Given the description of an element on the screen output the (x, y) to click on. 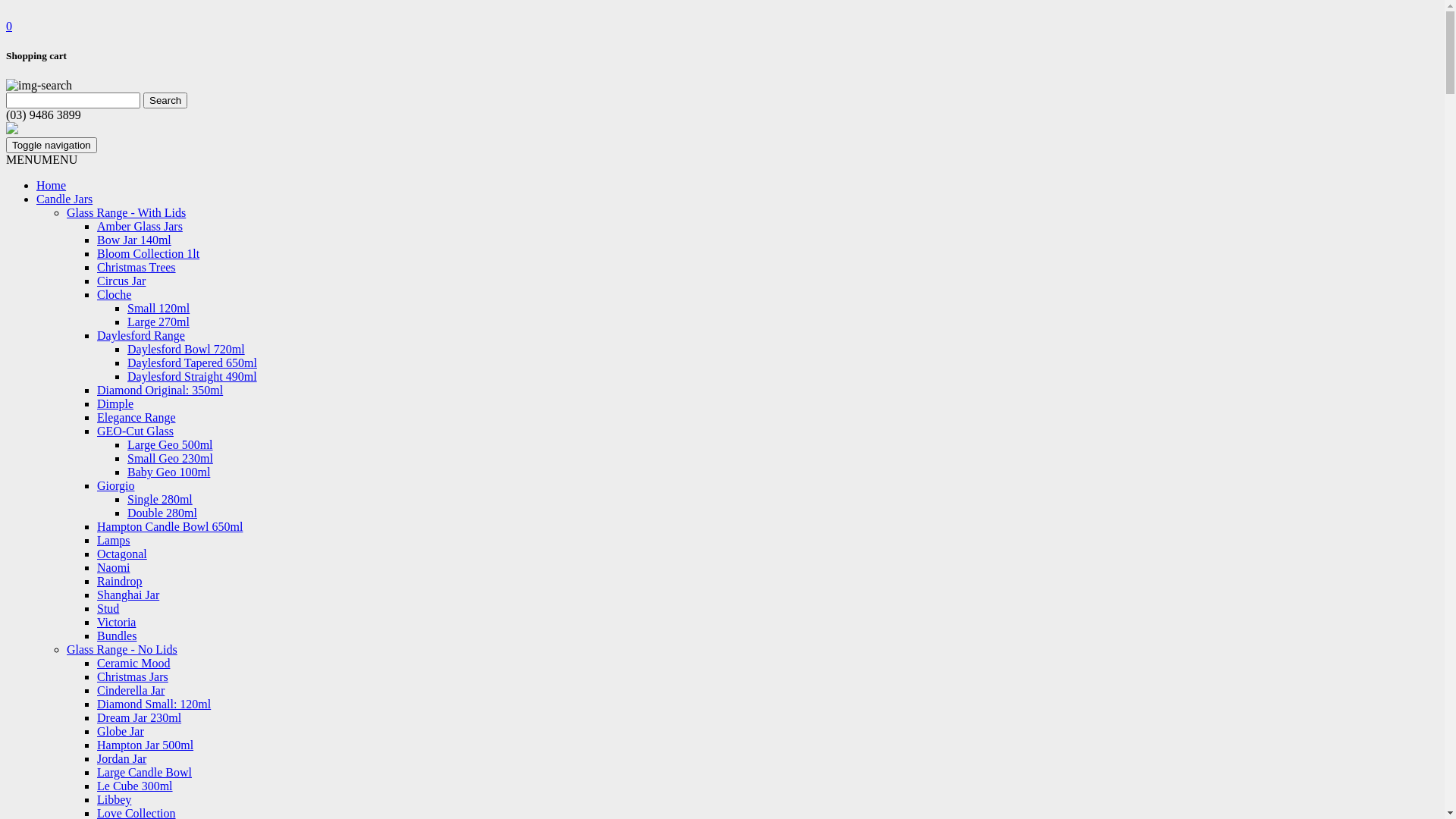
Daylesford Tapered 650ml Element type: text (192, 362)
Daylesford Bowl 720ml Element type: text (185, 348)
Glass Range - No Lids Element type: text (121, 649)
Shanghai Jar Element type: text (128, 594)
Christmas Trees Element type: text (136, 266)
Dimple Element type: text (115, 403)
Daylesford Straight 490ml Element type: text (192, 376)
Dream Jar 230ml Element type: text (139, 717)
Amber Glass Jars Element type: text (139, 225)
Naomi Element type: text (113, 567)
Bundles Element type: text (116, 635)
Lamps Element type: text (113, 539)
Le Cube 300ml Element type: text (134, 785)
Elegance Range Element type: text (136, 417)
Ceramic Mood Element type: text (133, 662)
Home Element type: text (50, 184)
Hampton Candle Bowl 650ml Element type: text (169, 526)
Hampton Jar 500ml Element type: text (145, 744)
Victoria Element type: text (116, 621)
GEO-Cut Glass Element type: text (135, 430)
Small Geo 230ml Element type: text (170, 457)
Raindrop Element type: text (119, 580)
Jordan Jar Element type: text (121, 758)
Bow Jar 140ml Element type: text (134, 239)
Libbey Element type: text (114, 799)
Glass Range - With Lids Element type: text (125, 212)
0 Element type: text (9, 25)
Globe Jar Element type: text (120, 730)
Baby Geo 100ml Element type: text (168, 471)
Giorgio Element type: text (115, 485)
Single 280ml Element type: text (159, 498)
Large 270ml Element type: text (158, 321)
Bloom Collection 1lt Element type: text (148, 253)
Diamond Original: 350ml Element type: text (159, 389)
Daylesford Range Element type: text (141, 335)
Diamond Small: 120ml Element type: text (153, 703)
Octagonal Element type: text (122, 553)
Candle Jars Element type: text (64, 198)
Christmas Jars Element type: text (132, 676)
Double 280ml Element type: text (162, 512)
Circus Jar Element type: text (121, 280)
Cloche Element type: text (114, 294)
Toggle navigation Element type: text (51, 145)
Large Geo 500ml Element type: text (170, 444)
Large Candle Bowl Element type: text (144, 771)
Small 120ml Element type: text (158, 307)
Search Element type: text (165, 100)
Stud Element type: text (108, 608)
Cinderella Jar Element type: text (130, 690)
